Given the description of an element on the screen output the (x, y) to click on. 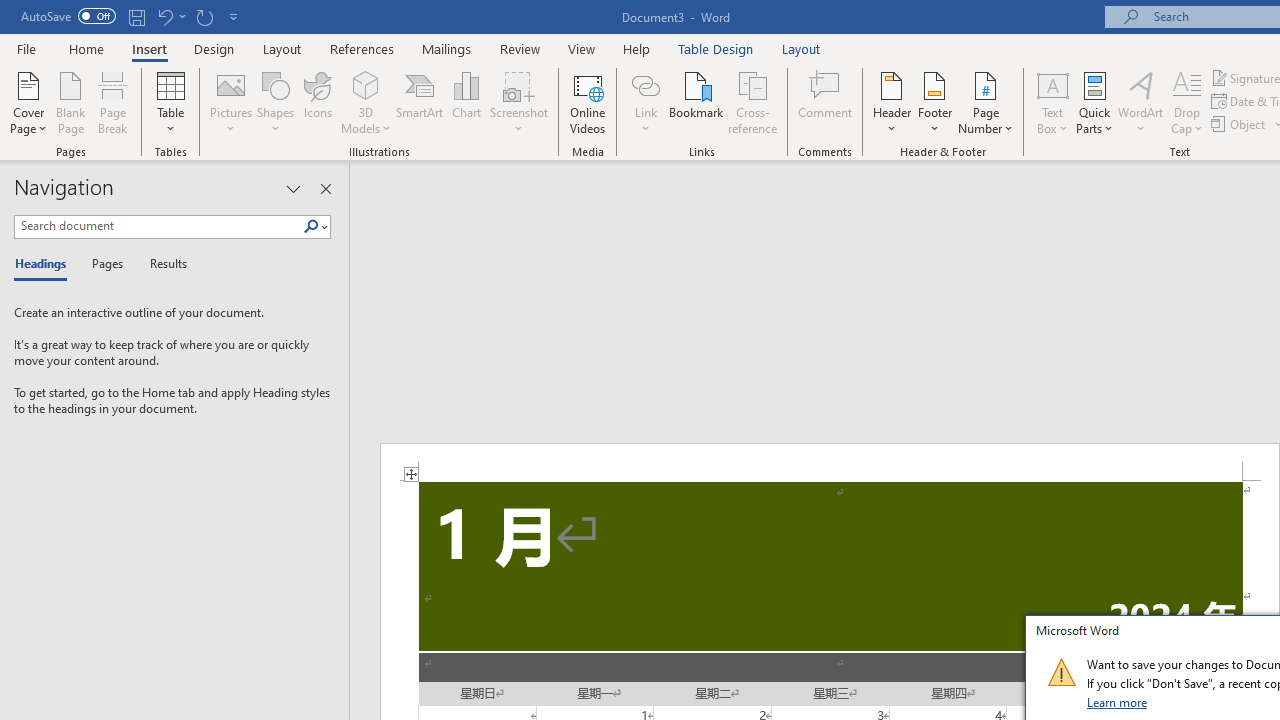
Repeat Doc Close (204, 15)
Bookmark... (695, 102)
Pages (105, 264)
Link (645, 84)
SmartArt... (419, 102)
Icons (317, 102)
Results (161, 264)
Comment (825, 102)
